Given the description of an element on the screen output the (x, y) to click on. 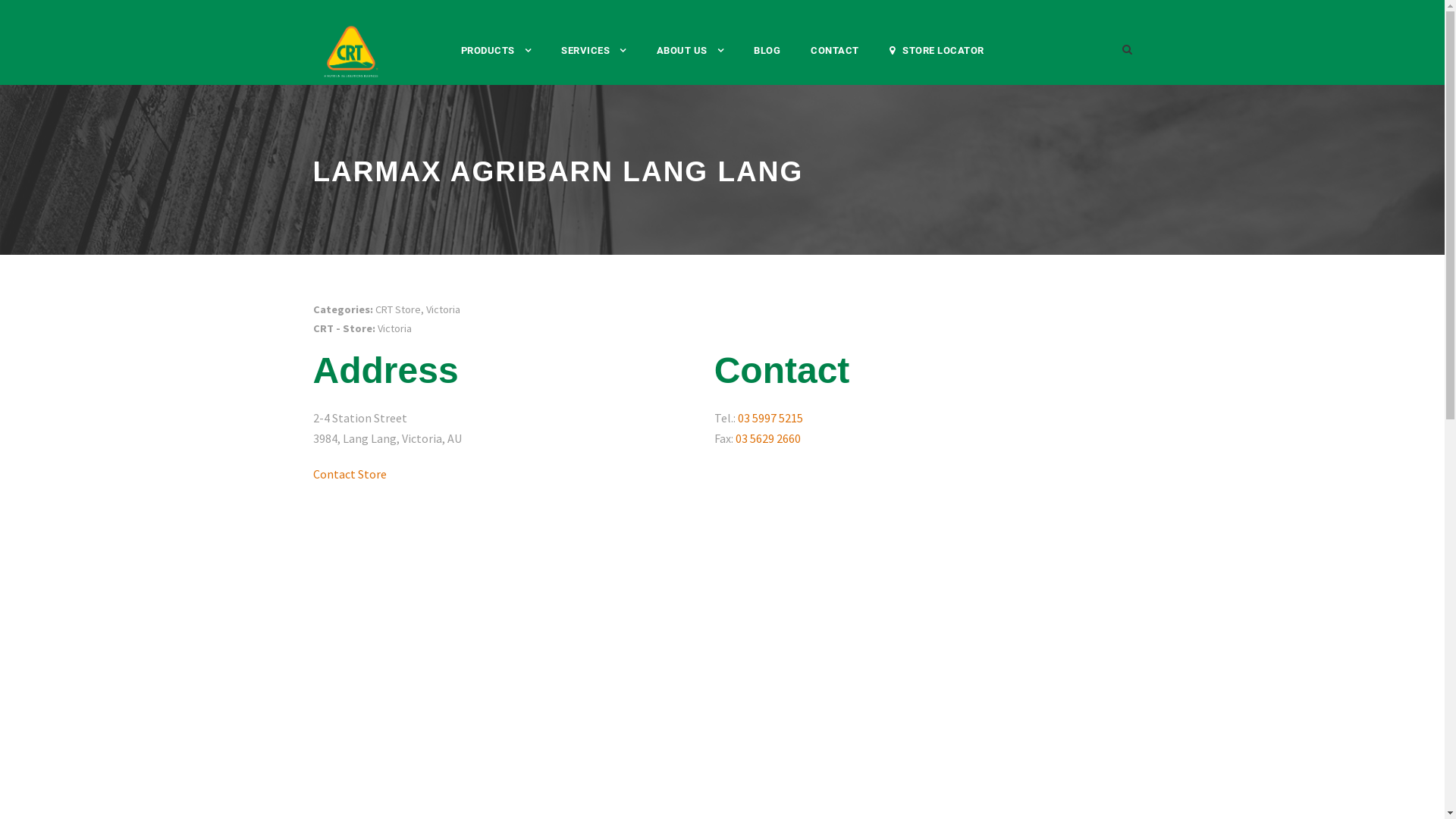
PRODUCTS Element type: text (369, 392)
CONTACT Element type: text (834, 63)
CROPPING Element type: text (390, 512)
SERVICES Element type: text (647, 392)
BLOG Element type: text (766, 63)
CRT STORE LOCATOR Element type: text (971, 612)
OUR NETWORK Element type: text (680, 589)
GENERAL MERCHANDISE Element type: text (419, 473)
ANIMAL SYSTEMS Element type: text (405, 551)
SERVICES Element type: text (593, 63)
03 5629 2660 Element type: text (767, 437)
MERCH & FERT INDEPENDENT POS TRADE PROMO T&CS Element type: text (722, 780)
OUR HISTORY Element type: text (677, 627)
Contact Store Element type: text (348, 474)
MECARDO Element type: text (669, 435)
STORE LOCATOR Element type: text (935, 63)
CONTACT Element type: text (910, 394)
PRODUCTS Element type: text (496, 63)
  02 9952 6555 Element type: text (922, 413)
PRIVACY AND SECURITY Element type: text (475, 761)
ABOUT US Element type: text (690, 63)
03 5997 5215 Element type: text (770, 417)
OUR COMMUNITY Element type: text (685, 550)
HEAD OFFICE Element type: text (918, 460)
WEBSITE TERMS OF USE Element type: text (621, 761)
WATER AND IRRIGATION Element type: text (418, 435)
ABOUT US Element type: text (648, 507)
